Given the description of an element on the screen output the (x, y) to click on. 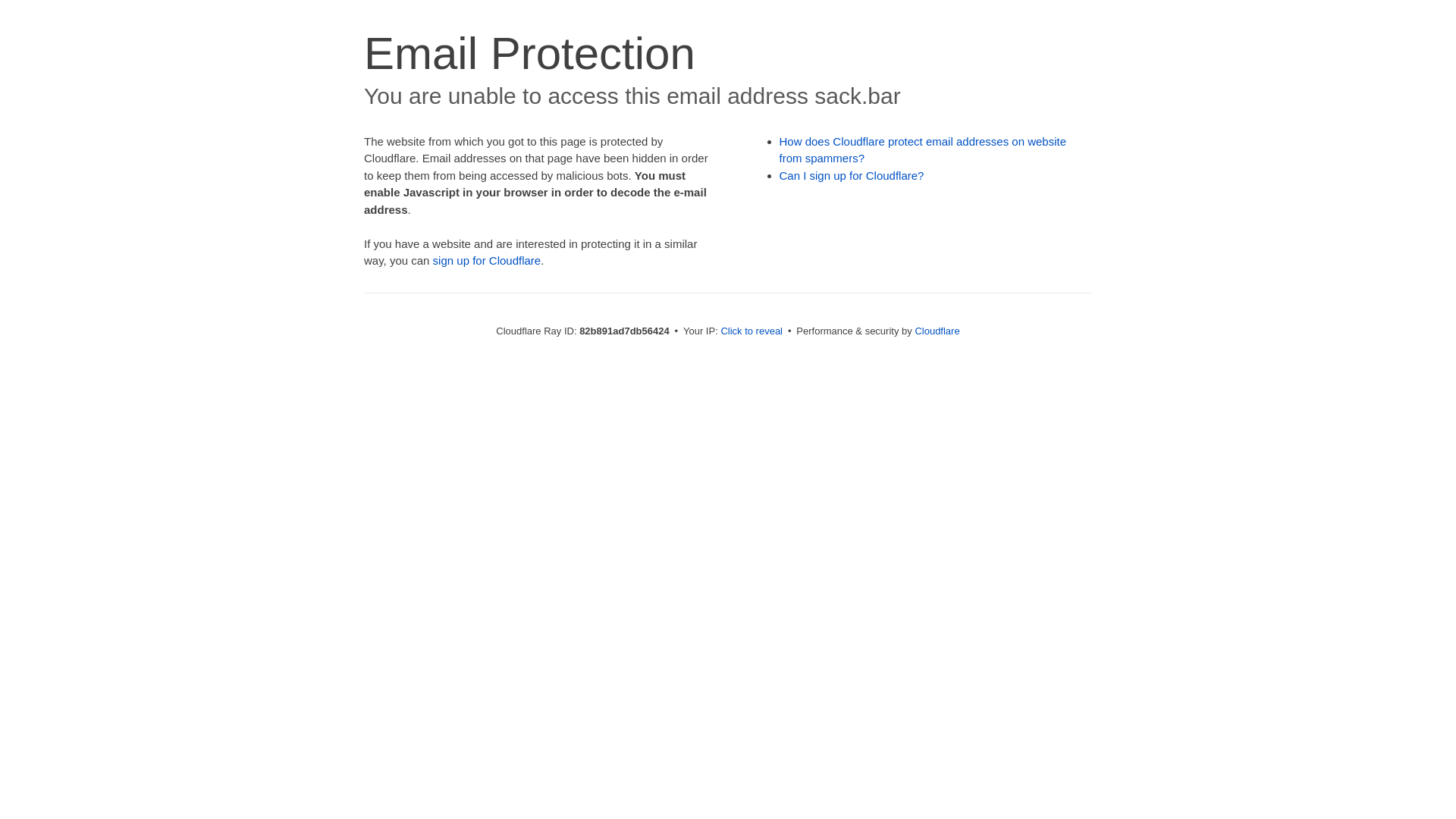
Click to reveal Element type: text (751, 330)
sign up for Cloudflare Element type: text (487, 260)
Can I sign up for Cloudflare? Element type: text (851, 175)
Cloudflare Element type: text (936, 330)
